Given the description of an element on the screen output the (x, y) to click on. 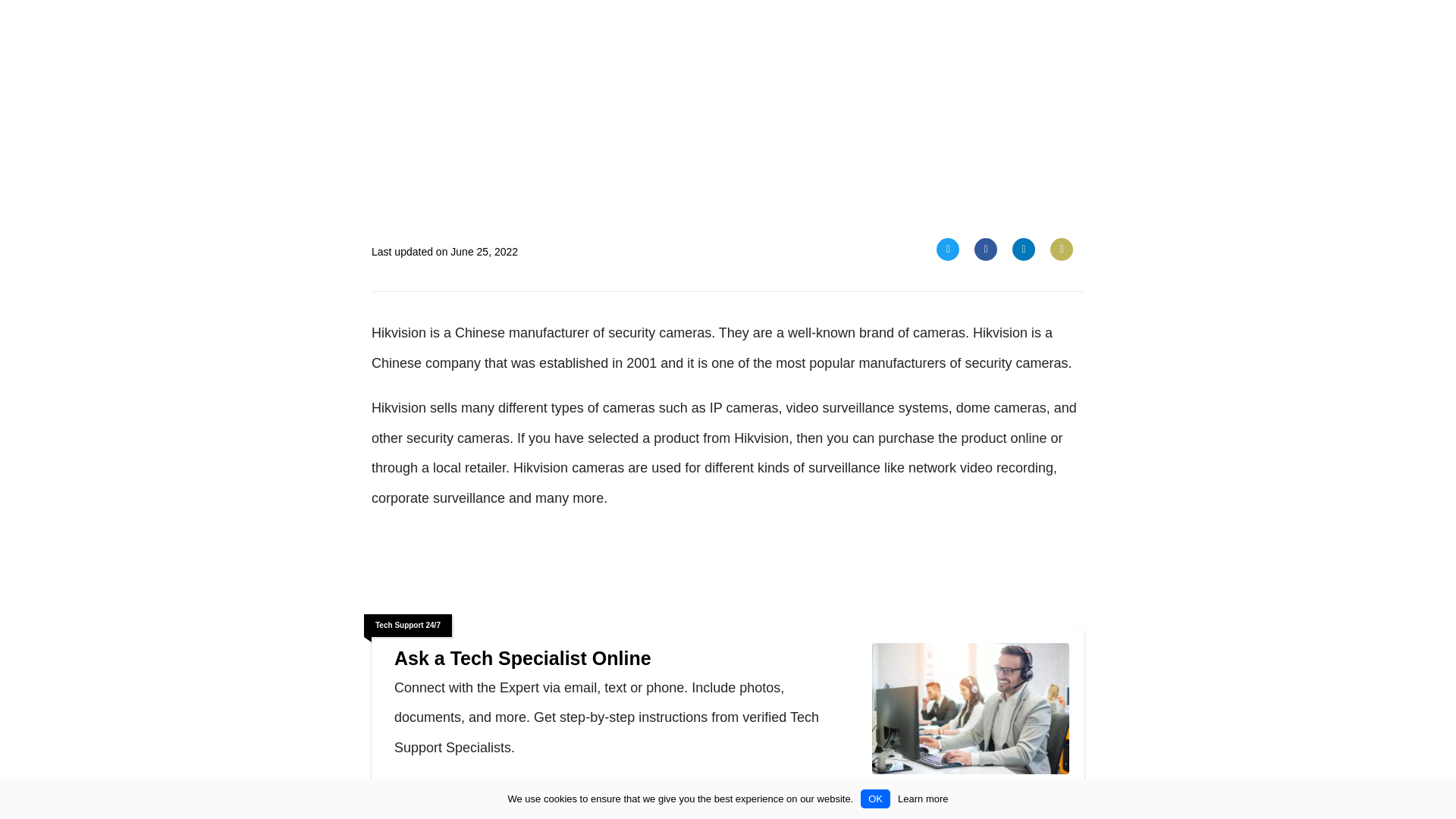
Share on LinkedIn (1023, 249)
Ask a Tech Specialist Online (493, 799)
Share on Facebook (985, 249)
Share on Twitter (947, 249)
Ask a Tech Specialist Online (625, 657)
Ask a Tech Specialist Online (625, 657)
Ask a Tech Specialist Online (970, 711)
Get Help From a Technician Live (493, 799)
Share on Email (1061, 249)
